Given the description of an element on the screen output the (x, y) to click on. 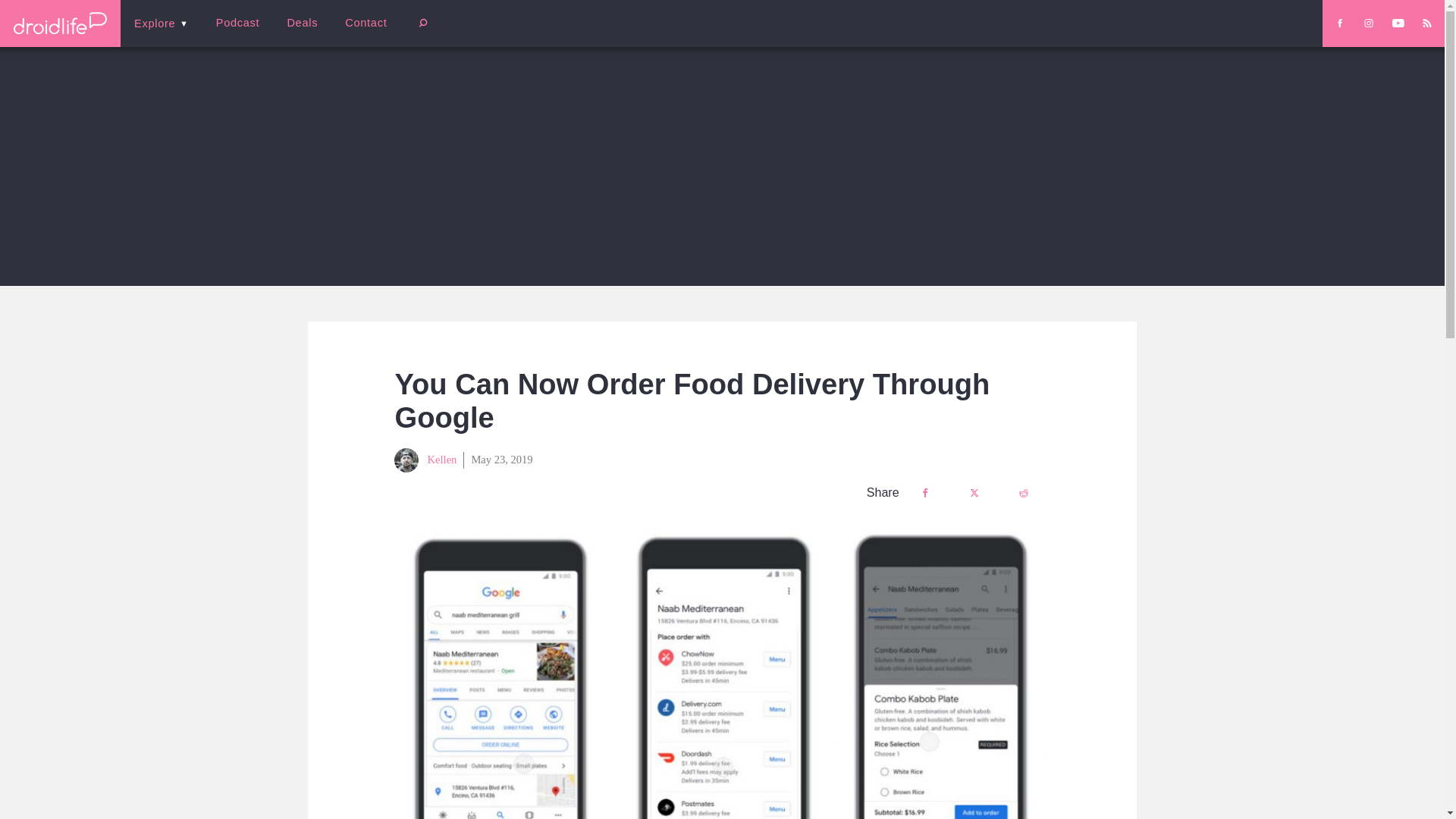
Kellen (425, 459)
Droid Life on Instagram (1368, 23)
Droid Life RSS (1426, 23)
Deals (302, 23)
Podcast (237, 23)
Droid Life on YouTube (1398, 23)
Beginners' Guide (360, 33)
Contact (365, 23)
Droid Life on Facebook (1339, 23)
Explore (161, 23)
